Given the description of an element on the screen output the (x, y) to click on. 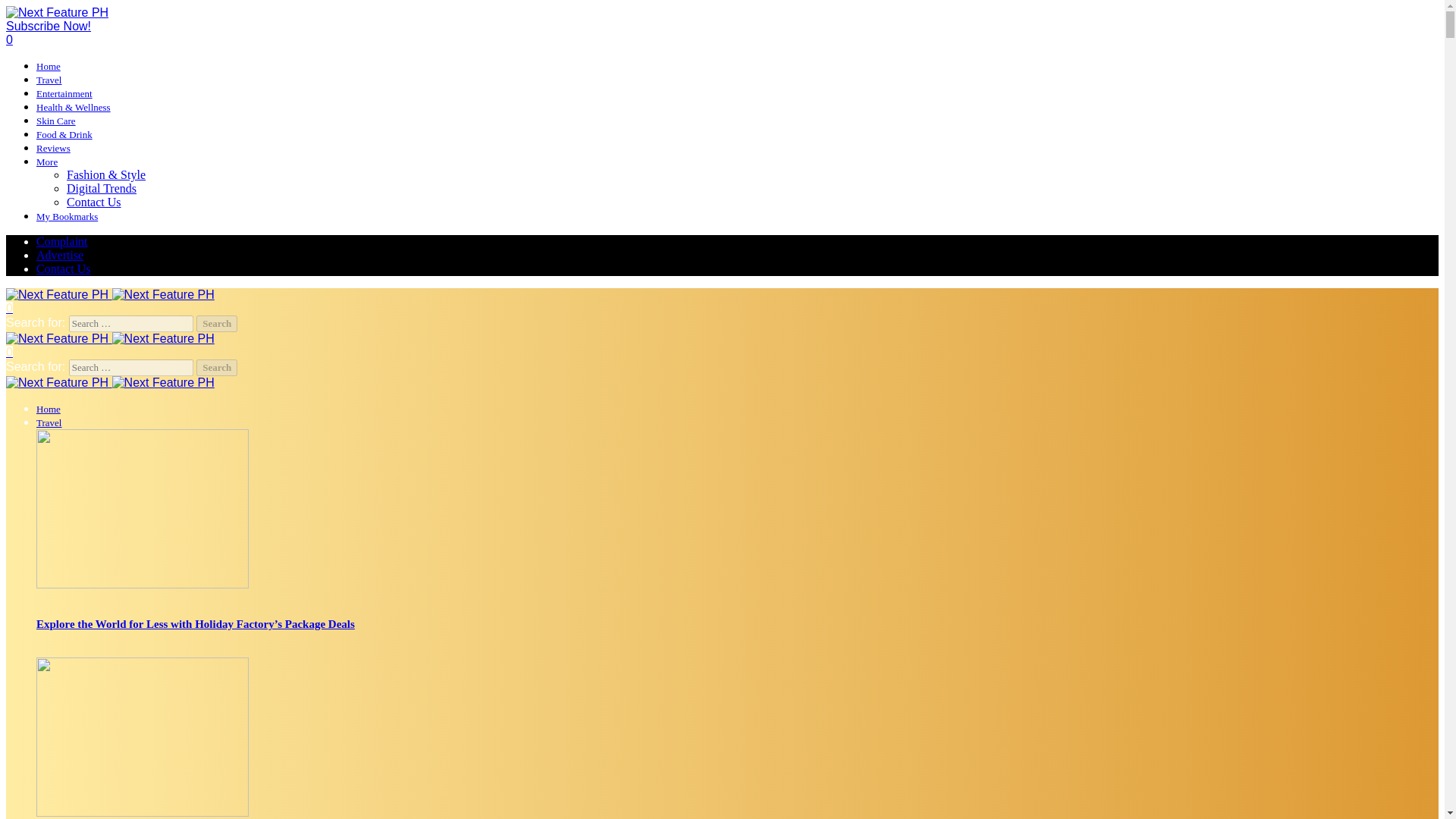
Home (48, 66)
Reviews (52, 147)
Skin Care (55, 120)
Digital Trends (101, 187)
Subscribe Now! (47, 25)
Travel (48, 79)
My Bookmarks (66, 215)
Advertise (59, 254)
Complaint (61, 241)
Search (216, 367)
